Given the description of an element on the screen output the (x, y) to click on. 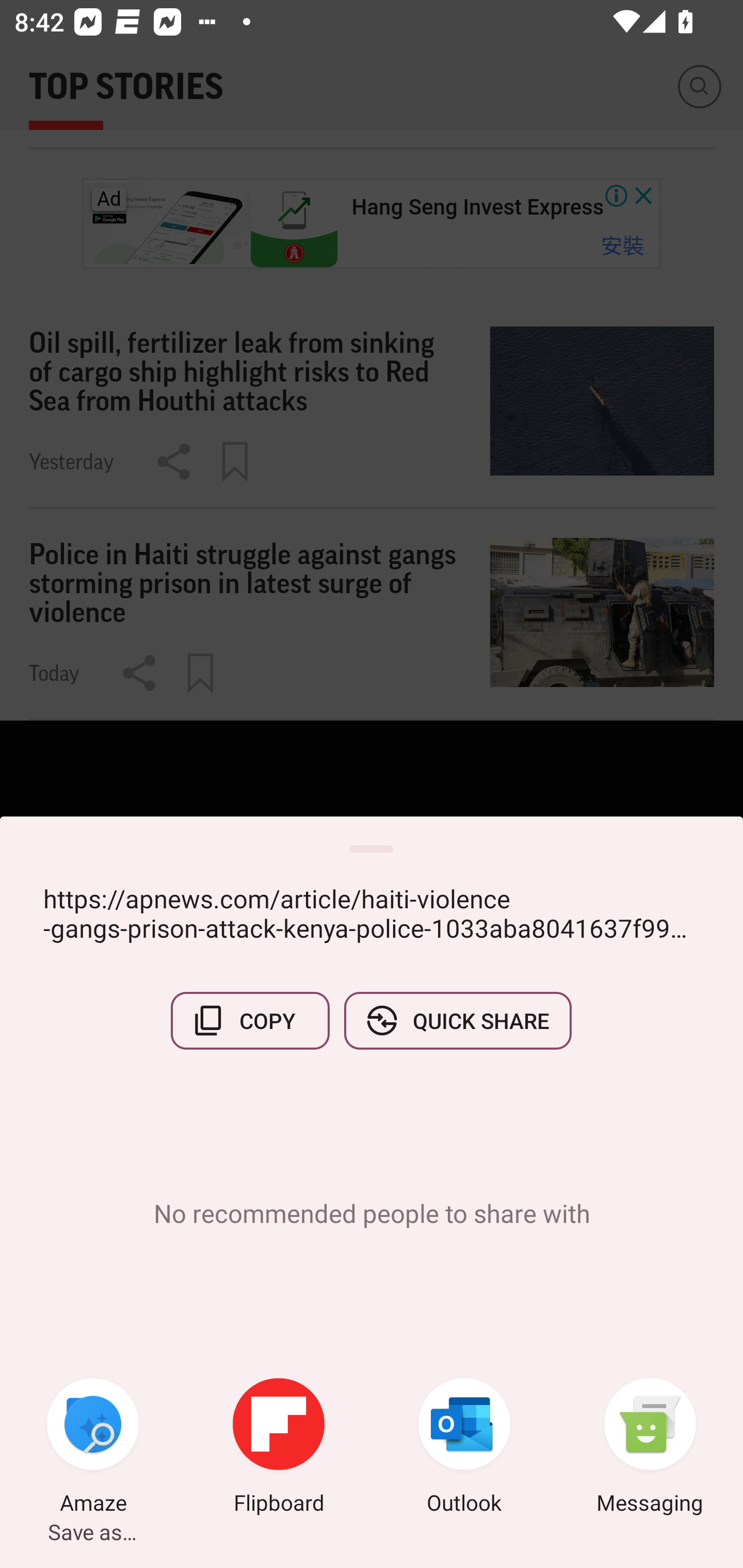
COPY (249, 1020)
QUICK SHARE (457, 1020)
Amaze Save as… (92, 1448)
Flipboard (278, 1448)
Outlook (464, 1448)
Messaging (650, 1448)
